Given the description of an element on the screen output the (x, y) to click on. 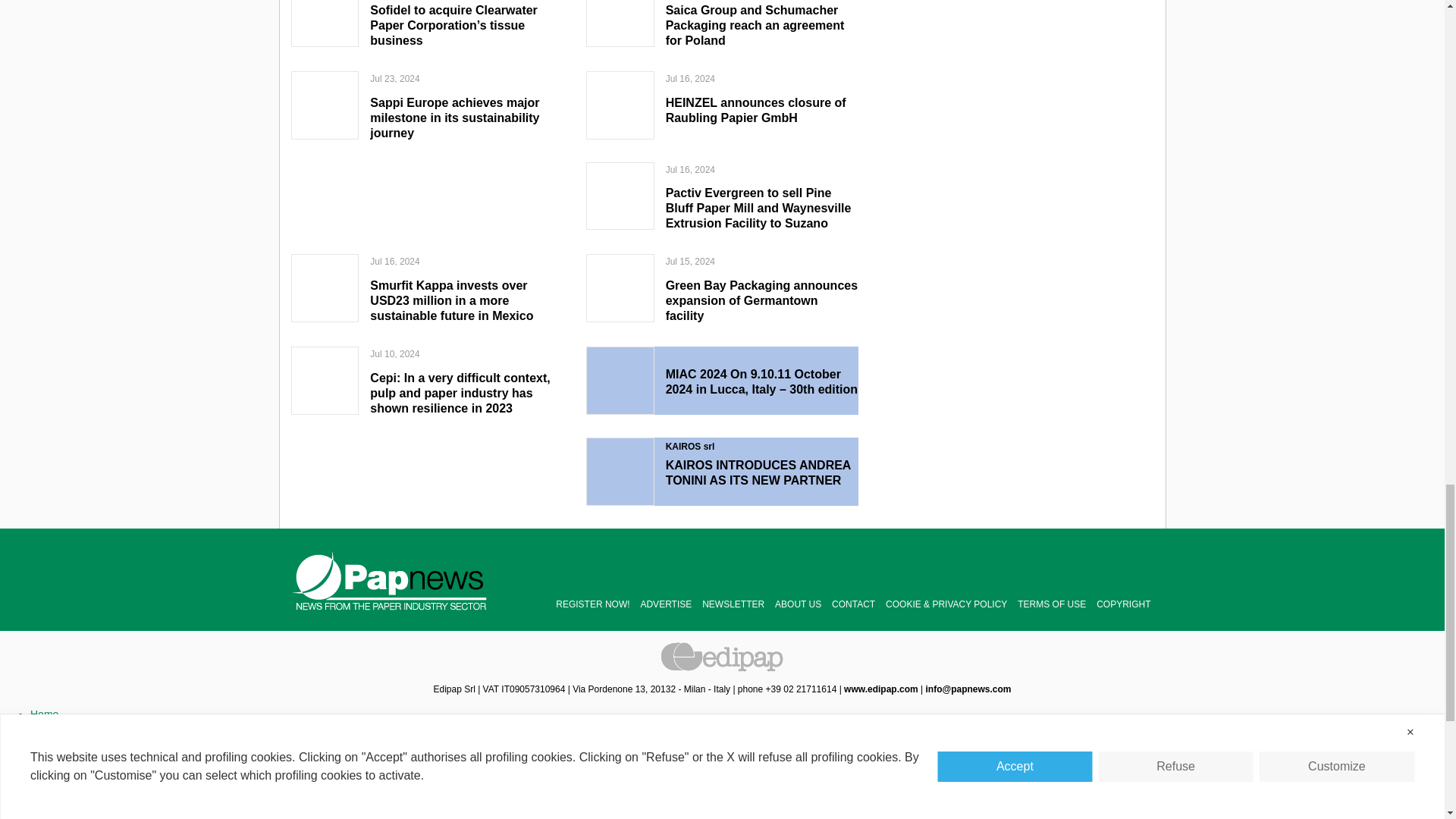
visit Edipap website (881, 688)
back to home page (389, 580)
